Given the description of an element on the screen output the (x, y) to click on. 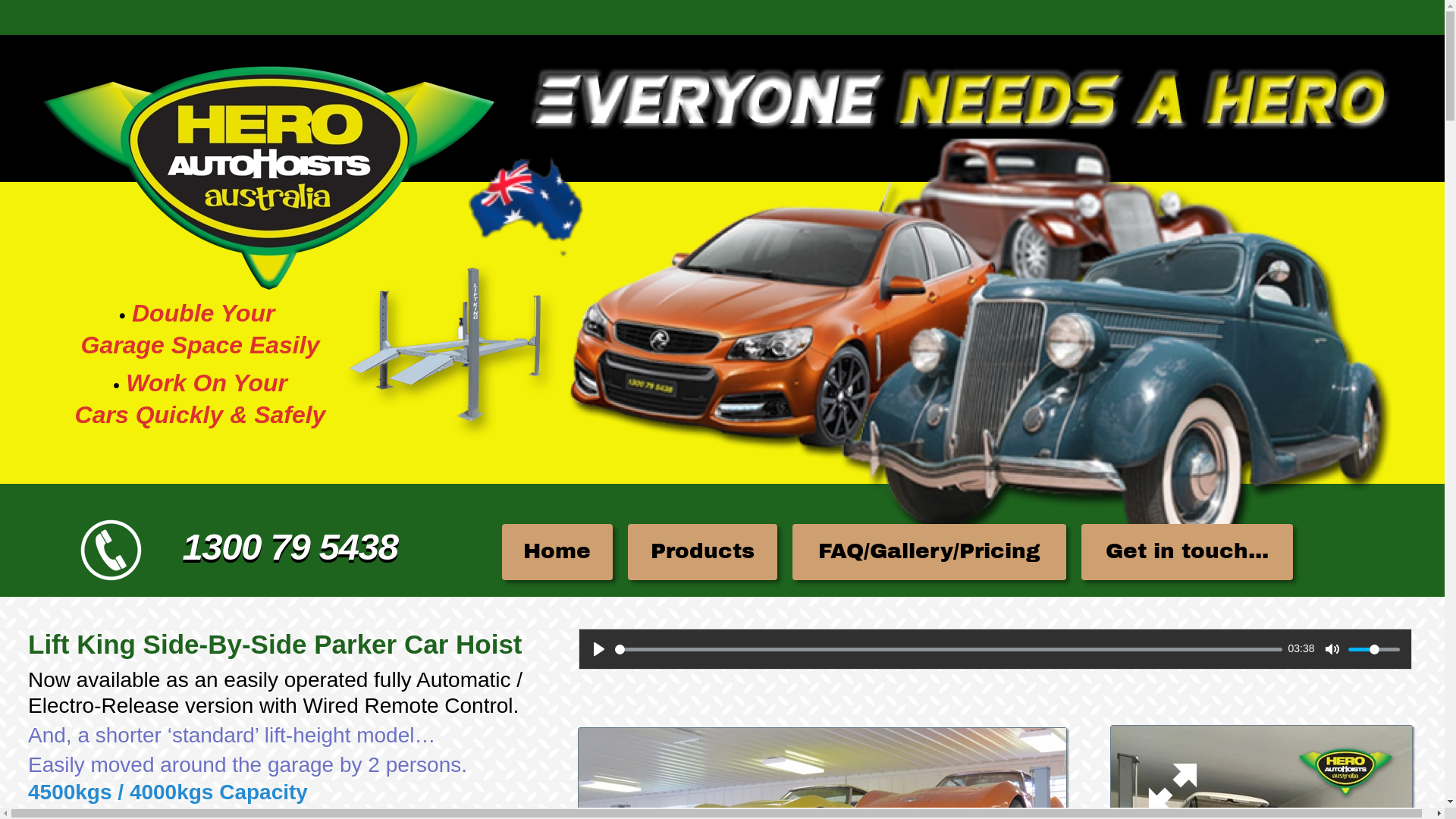
Mute Element type: text (1332, 649)
Play Element type: text (598, 649)
1300 79 5438
1300 79 5438 Element type: text (289, 550)
Go to home page.... Element type: hover (267, 177)
